Given the description of an element on the screen output the (x, y) to click on. 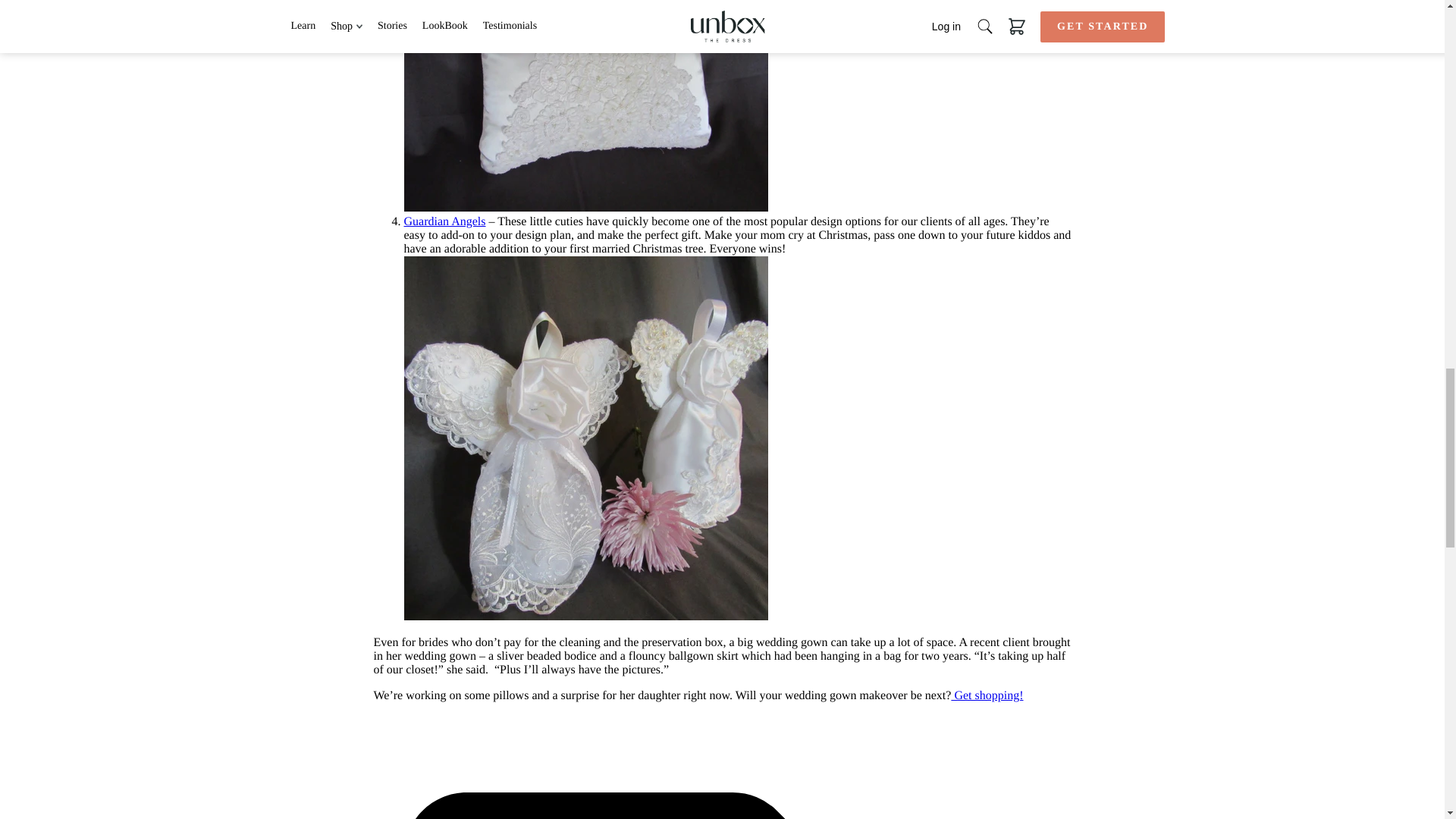
Guardian Angels (443, 221)
Get Shopping (986, 695)
